Given the description of an element on the screen output the (x, y) to click on. 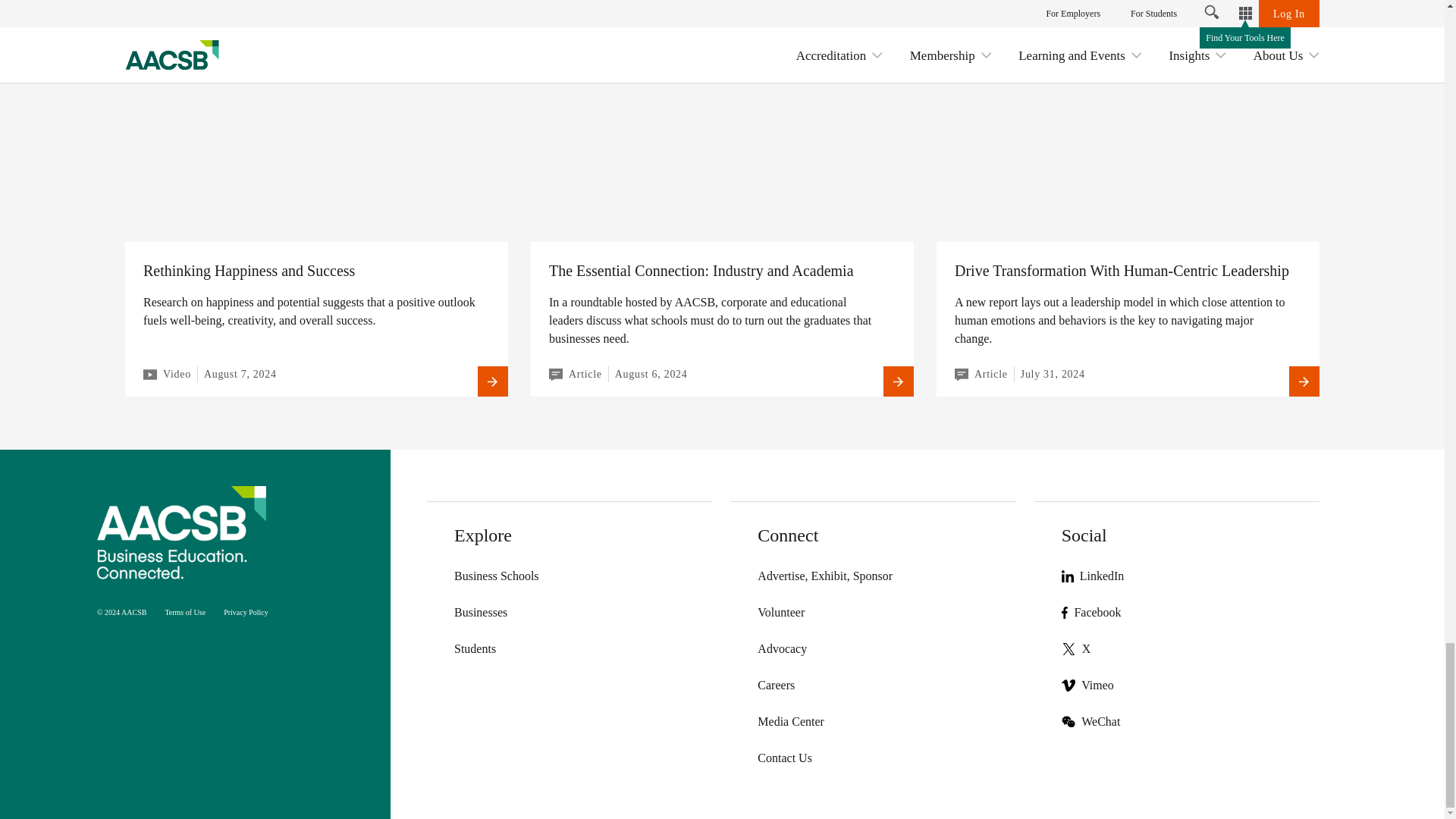
Video Icon (149, 374)
Article Icon (961, 374)
Article Icon (555, 374)
